Given the description of an element on the screen output the (x, y) to click on. 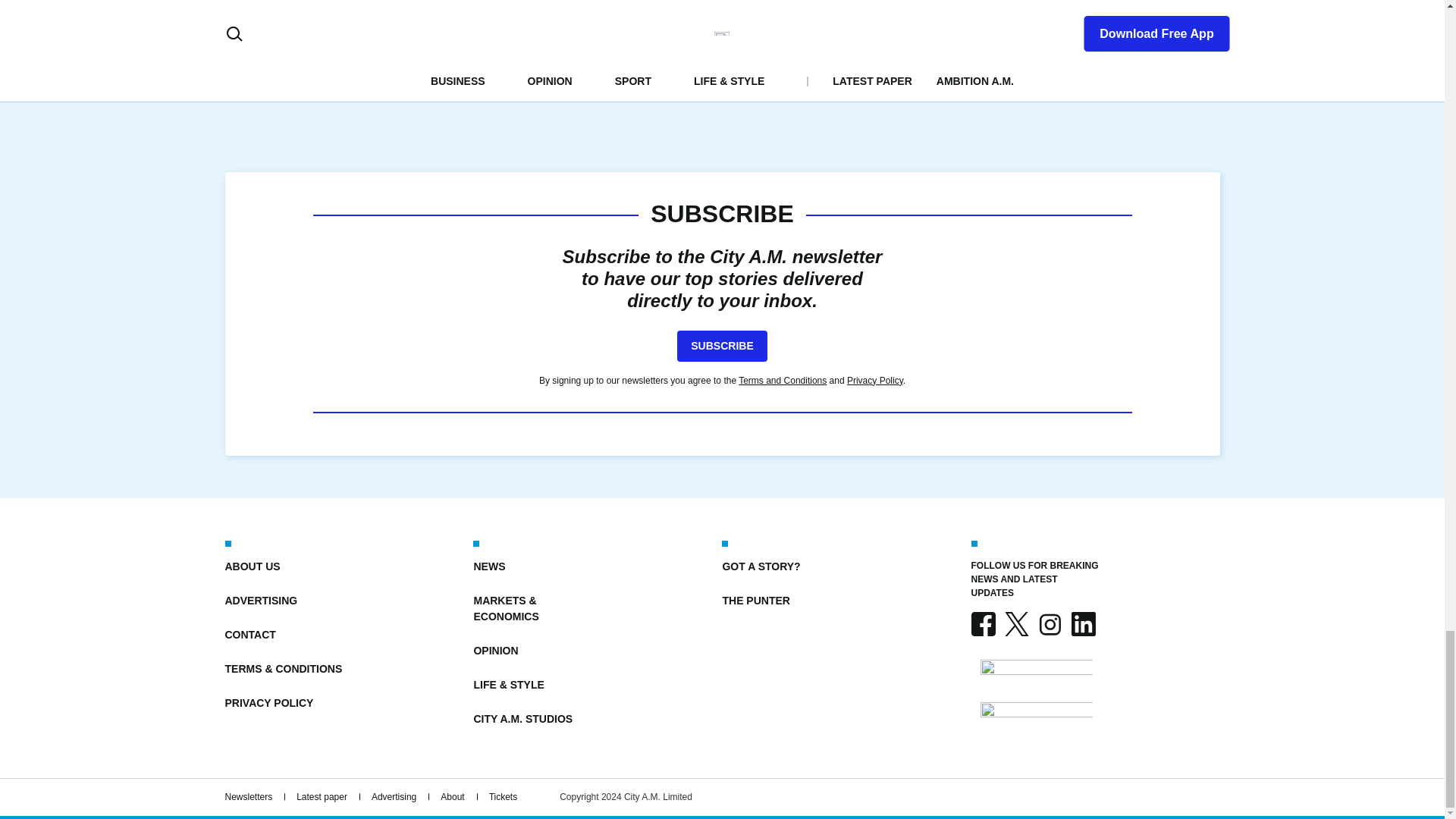
X (1015, 623)
FACEBOOK (982, 623)
INSTAGRAM (1048, 623)
LINKEDIN (1082, 623)
